Given the description of an element on the screen output the (x, y) to click on. 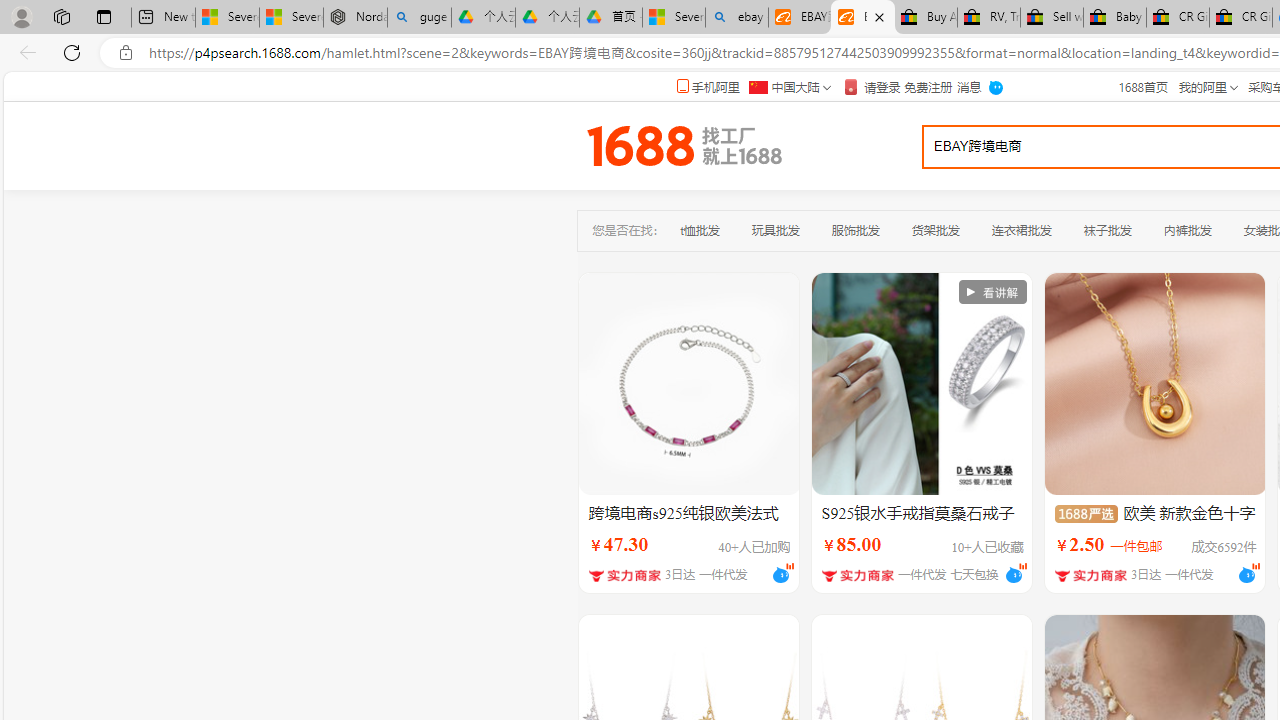
Class: icon (1085, 513)
guge yunpan - Search (418, 17)
Class: on-line (1255, 565)
